Given the description of an element on the screen output the (x, y) to click on. 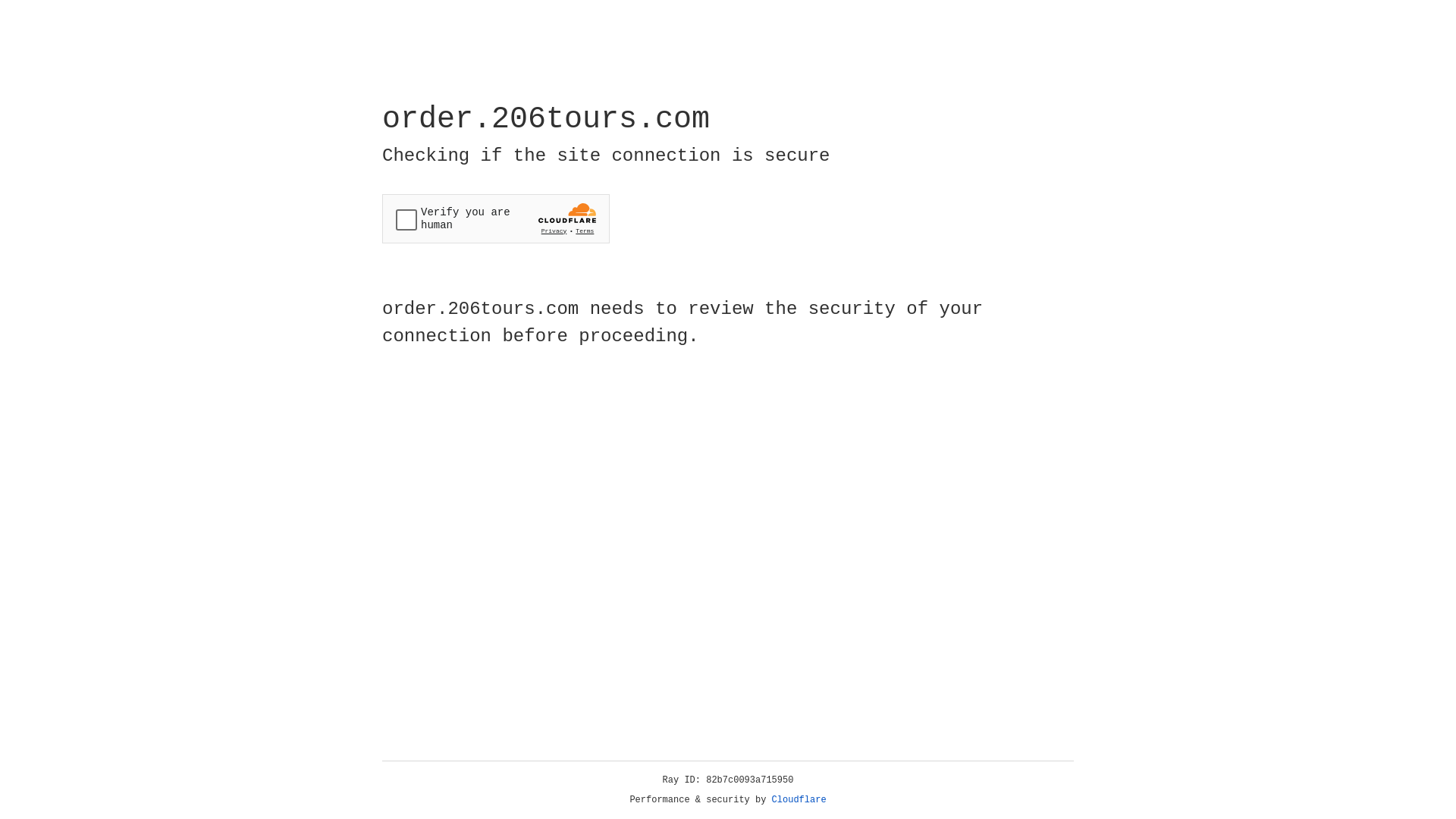
Cloudflare Element type: text (798, 799)
Widget containing a Cloudflare security challenge Element type: hover (495, 218)
